Given the description of an element on the screen output the (x, y) to click on. 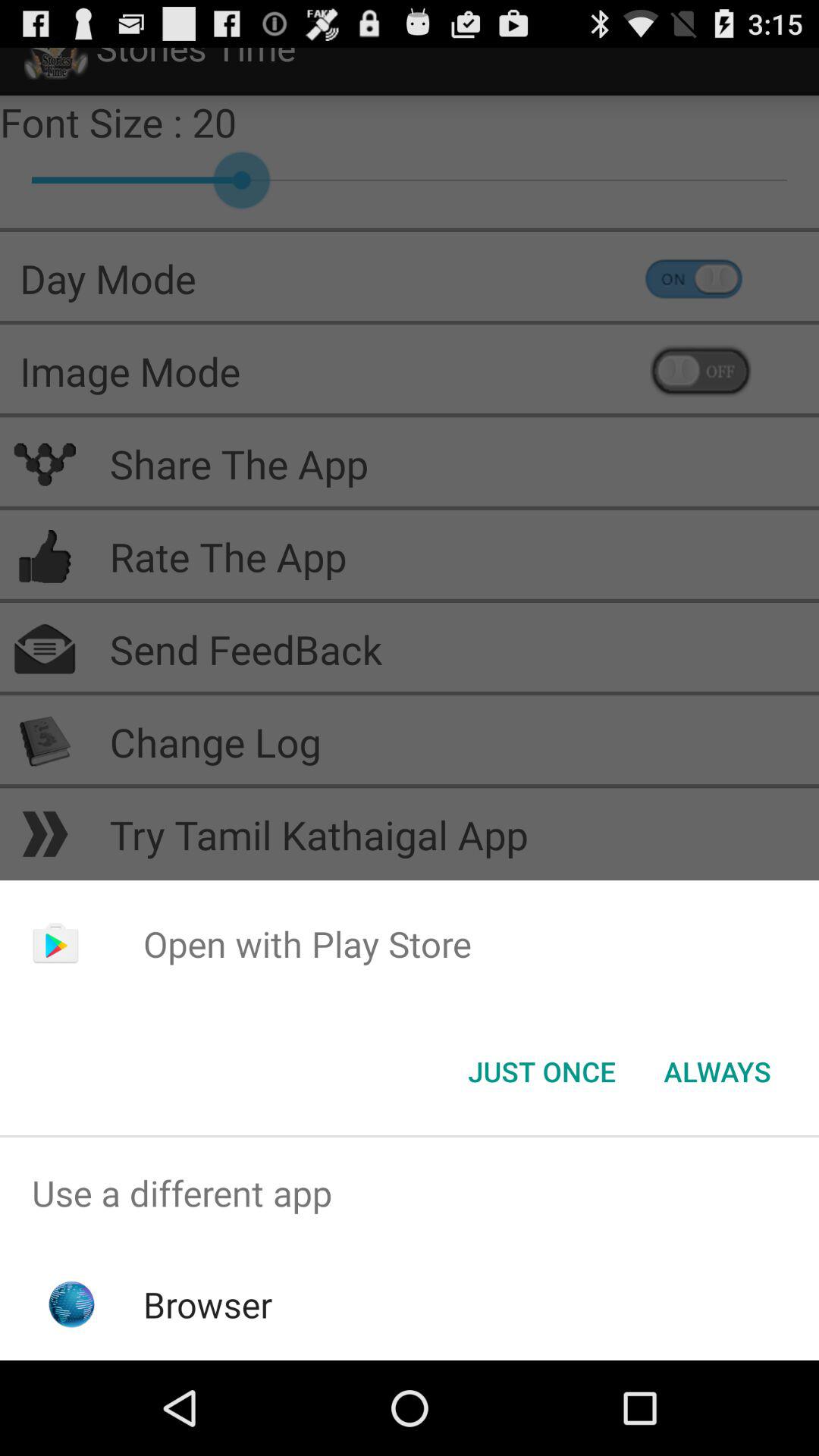
choose button to the left of the always (541, 1071)
